Given the description of an element on the screen output the (x, y) to click on. 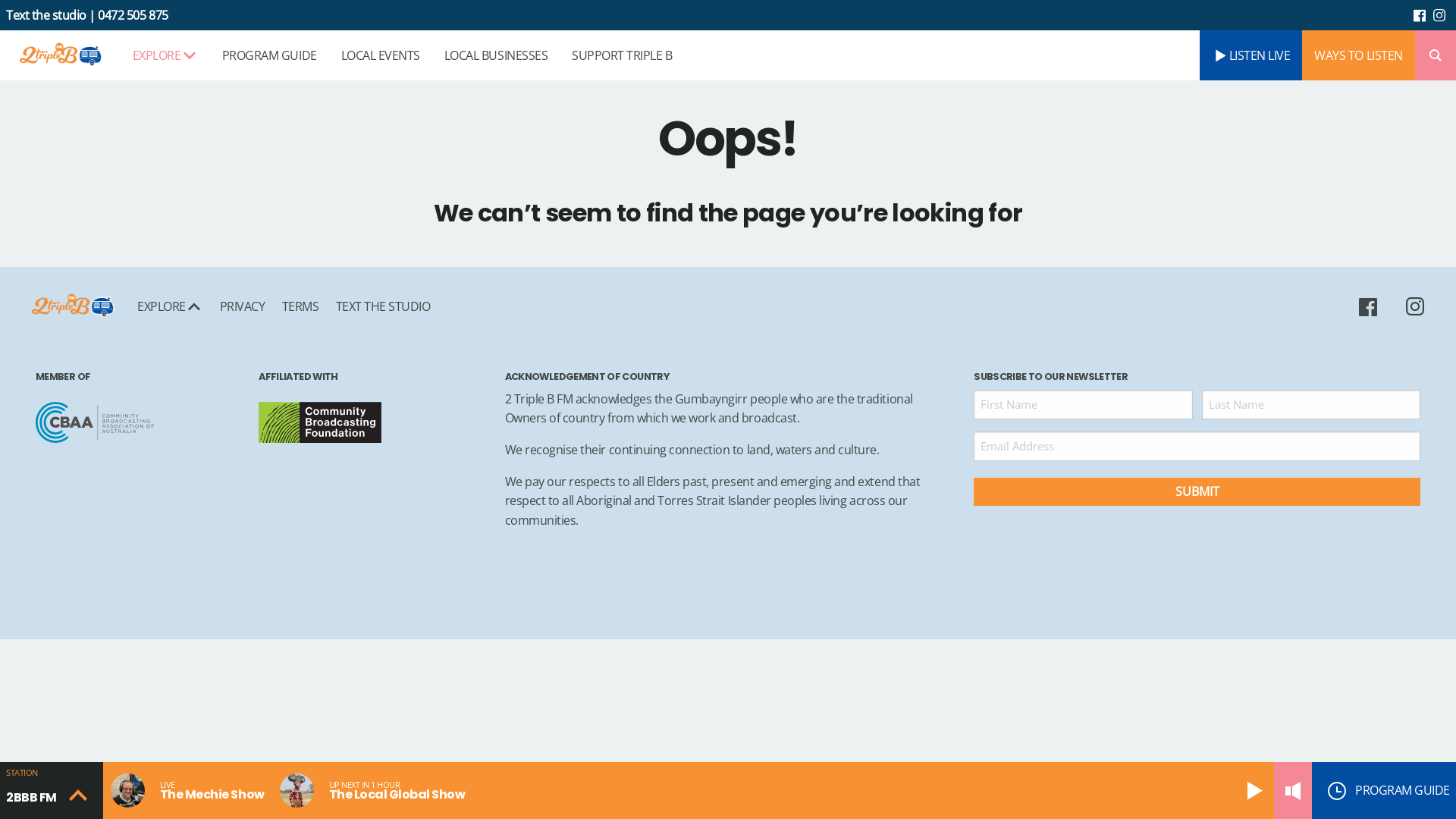
WAYS TO LISTEN Element type: text (1358, 55)
Text the studio | 0472 505 875 Element type: text (87, 15)
TERMS Element type: text (299, 306)
PRIVACY Element type: text (241, 306)
SUPPORT TRIPLE B Element type: text (621, 55)
EXPLORE Element type: text (165, 55)
  Element type: text (1439, 14)
  Element type: text (1374, 306)
LOCAL EVENTS Element type: text (380, 55)
  Element type: text (1412, 306)
LISTEN LIVE Element type: text (1250, 55)
LOCAL BUSINESSES Element type: text (495, 55)
  Element type: text (1420, 14)
EXPLORE Element type: text (169, 306)
Submit Element type: text (1196, 491)
PROGRAM GUIDE Element type: text (269, 55)
TEXT THE STUDIO Element type: text (377, 306)
